Given the description of an element on the screen output the (x, y) to click on. 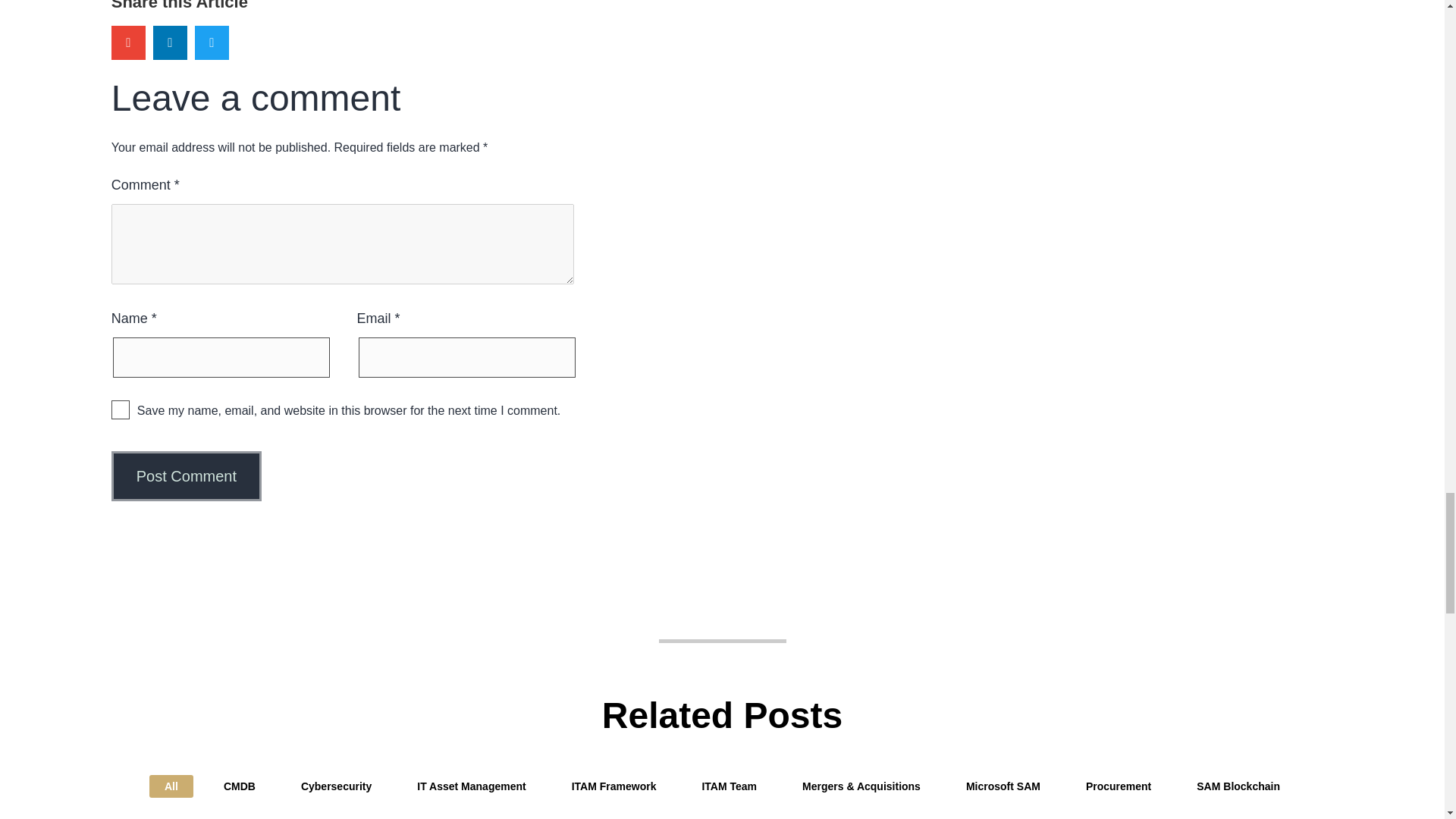
yes (120, 409)
Post Comment (187, 476)
